Given the description of an element on the screen output the (x, y) to click on. 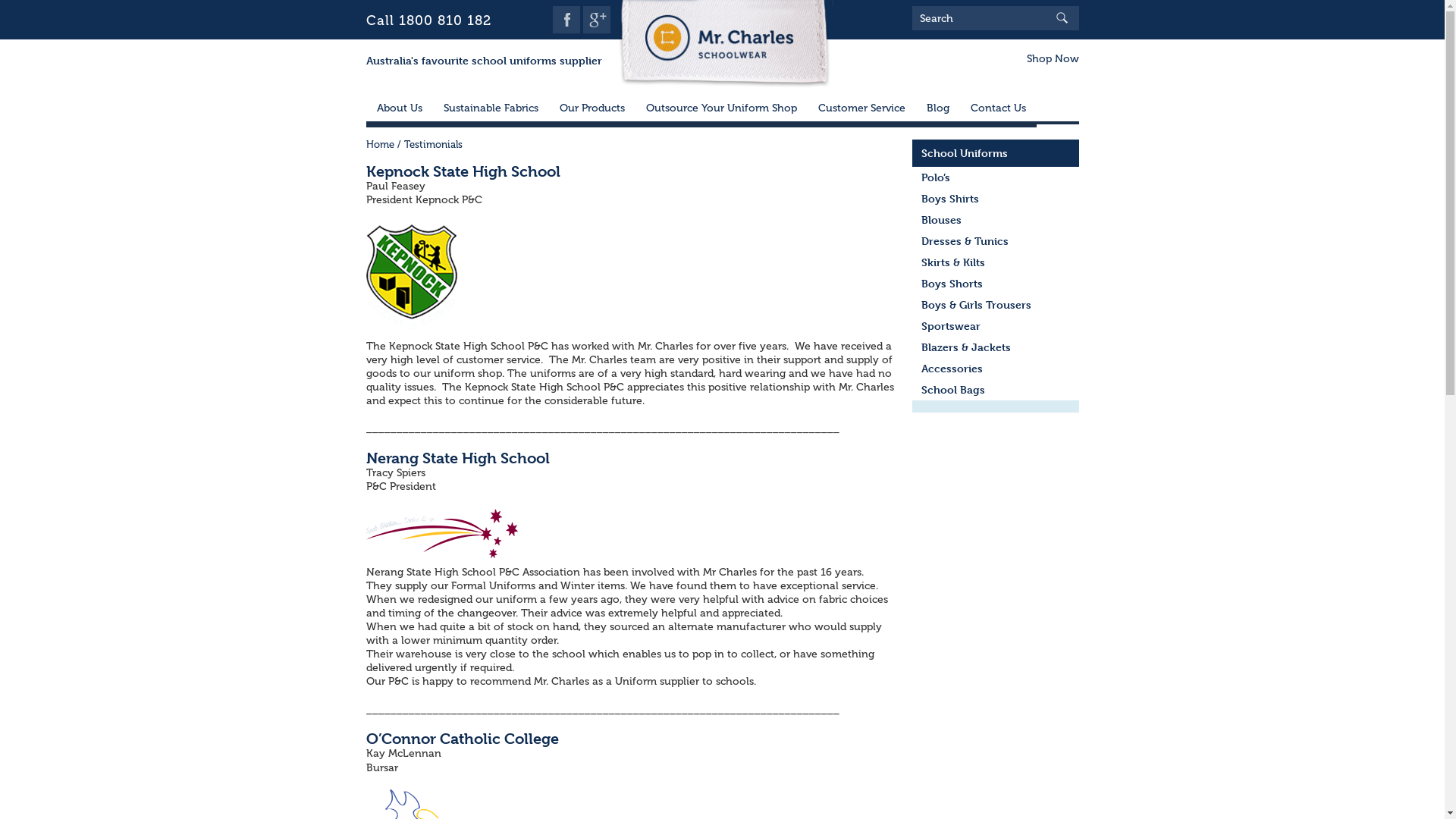
Boys & Girls Trousers Element type: text (994, 304)
facebook Element type: text (566, 19)
Testimonials Element type: hover (441, 533)
Sportswear Element type: text (994, 325)
Customer Service Element type: text (860, 112)
Sustainable Fabrics Element type: text (490, 112)
Outsource Your Uniform Shop Element type: text (721, 112)
Blog Element type: text (938, 112)
Dresses & Tunics Element type: text (994, 240)
Testimonials Element type: hover (410, 277)
Contact Us Element type: text (998, 112)
Our Products Element type: text (592, 112)
About Us Element type: text (398, 112)
Shop Now Element type: text (1047, 58)
Blouses Element type: text (994, 219)
submit Element type: text (1067, 17)
Blazers & Jackets Element type: text (994, 346)
Accessories Element type: text (994, 368)
Boys Shirts Element type: text (994, 198)
Home Element type: text (379, 144)
Skirts & Kilts Element type: text (994, 262)
School Bags Element type: text (994, 389)
Boys Shorts Element type: text (994, 283)
Google plus Element type: text (596, 19)
Call 1800 810 182 Element type: text (427, 20)
